Given the description of an element on the screen output the (x, y) to click on. 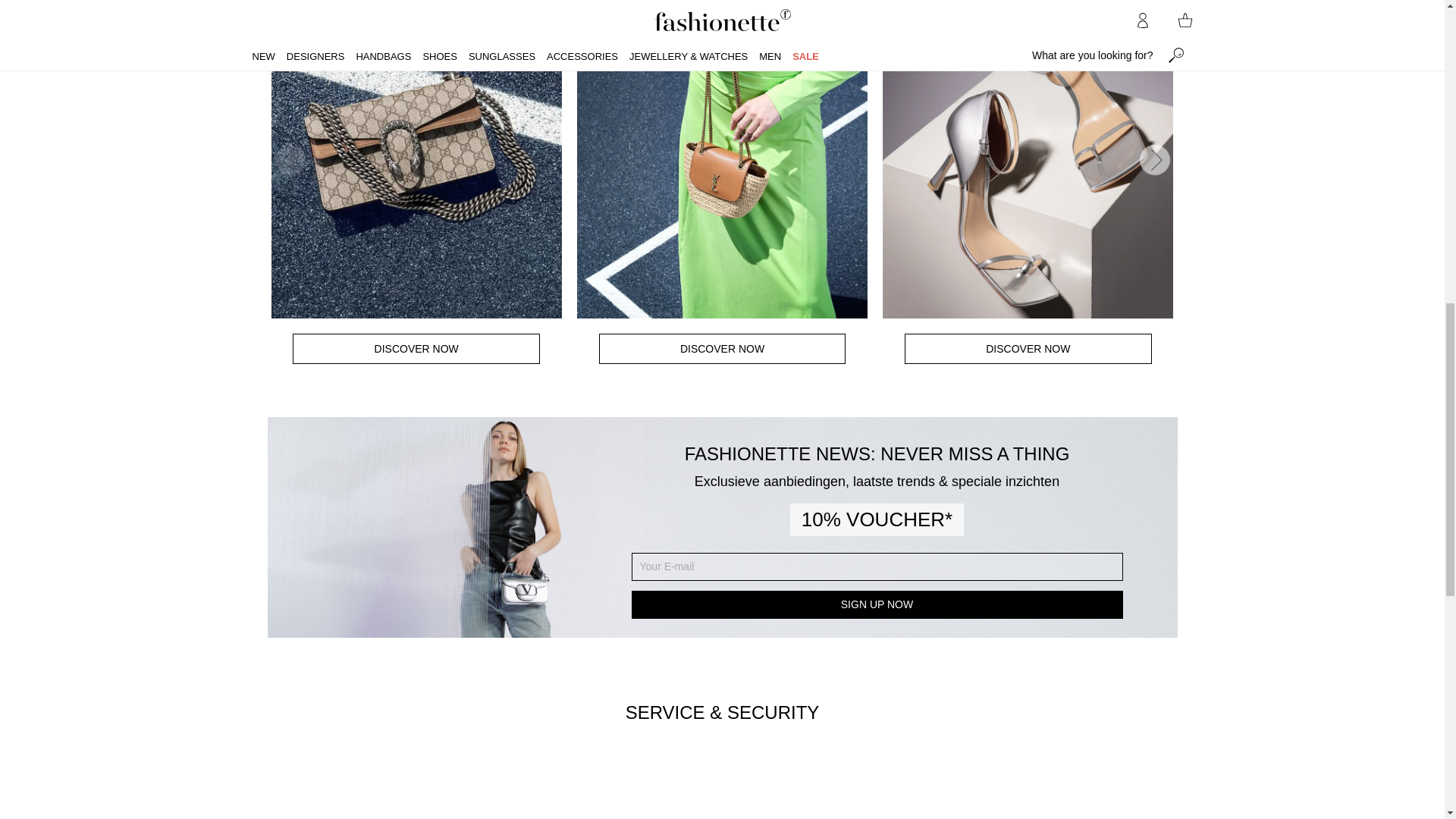
30 days free-of-charge return policy (659, 790)
Different payment options available (784, 790)
Trusted Shops certified (911, 790)
Sign up now (876, 604)
Sign up now (876, 604)
Free Standard Shipping from 200 GBP (532, 790)
